Given the description of an element on the screen output the (x, y) to click on. 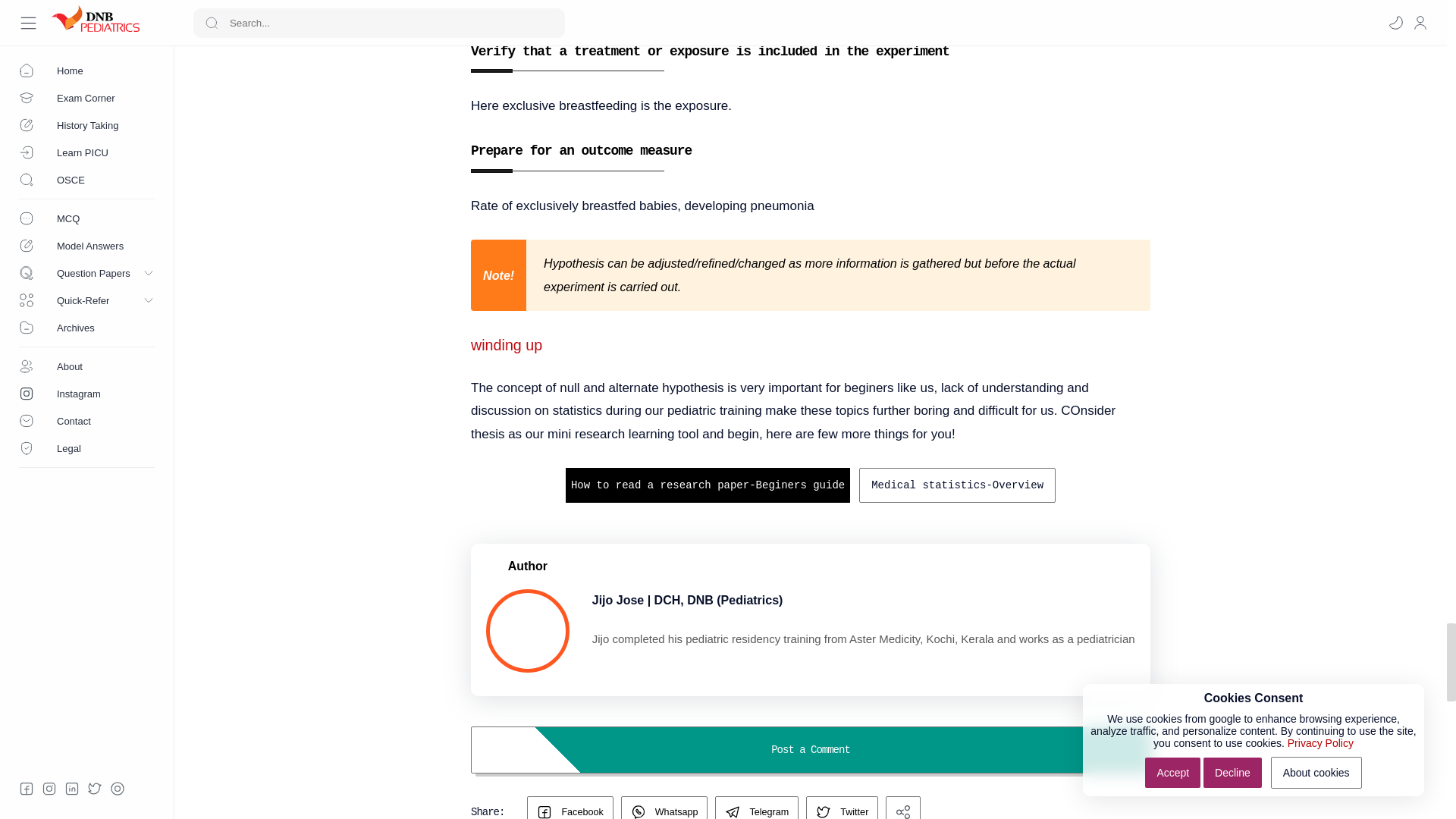
Medical statistics-Overview (957, 484)
Telegram (755, 807)
Share to Twitter (841, 807)
How to read a research paper-Beginers guide (708, 484)
